Given the description of an element on the screen output the (x, y) to click on. 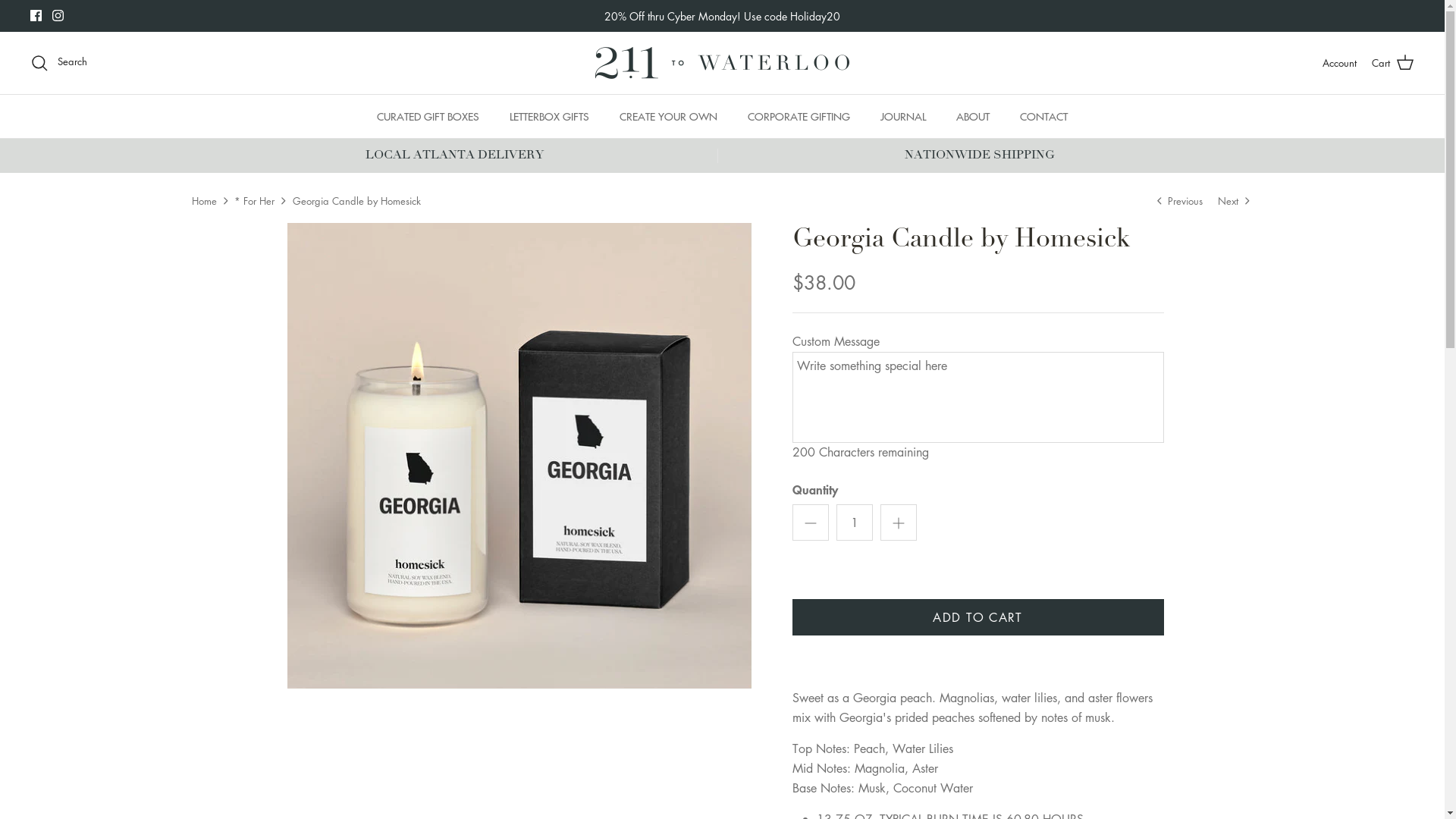
Next Element type: text (1235, 198)
LETTERBOX GIFTS Element type: text (548, 116)
Plus Element type: text (897, 522)
Minus Element type: text (809, 522)
Account Element type: text (1339, 63)
Georgia Candle by Homesick Element type: text (356, 200)
Instagram Element type: text (57, 15)
ADD TO CART Element type: text (977, 617)
Cart Element type: text (1392, 62)
CONTACT Element type: text (1043, 116)
CURATED GIFT BOXES Element type: text (427, 116)
Search Element type: text (58, 62)
CORPORATE GIFTING Element type: text (798, 116)
211 to Waterloo Element type: hover (722, 62)
Facebook Element type: text (35, 15)
Home Element type: text (203, 200)
CREATE YOUR OWN Element type: text (668, 116)
Previous Element type: text (1179, 198)
JOURNAL Element type: text (902, 116)
* For Her Element type: text (254, 200)
ABOUT Element type: text (972, 116)
